Given the description of an element on the screen output the (x, y) to click on. 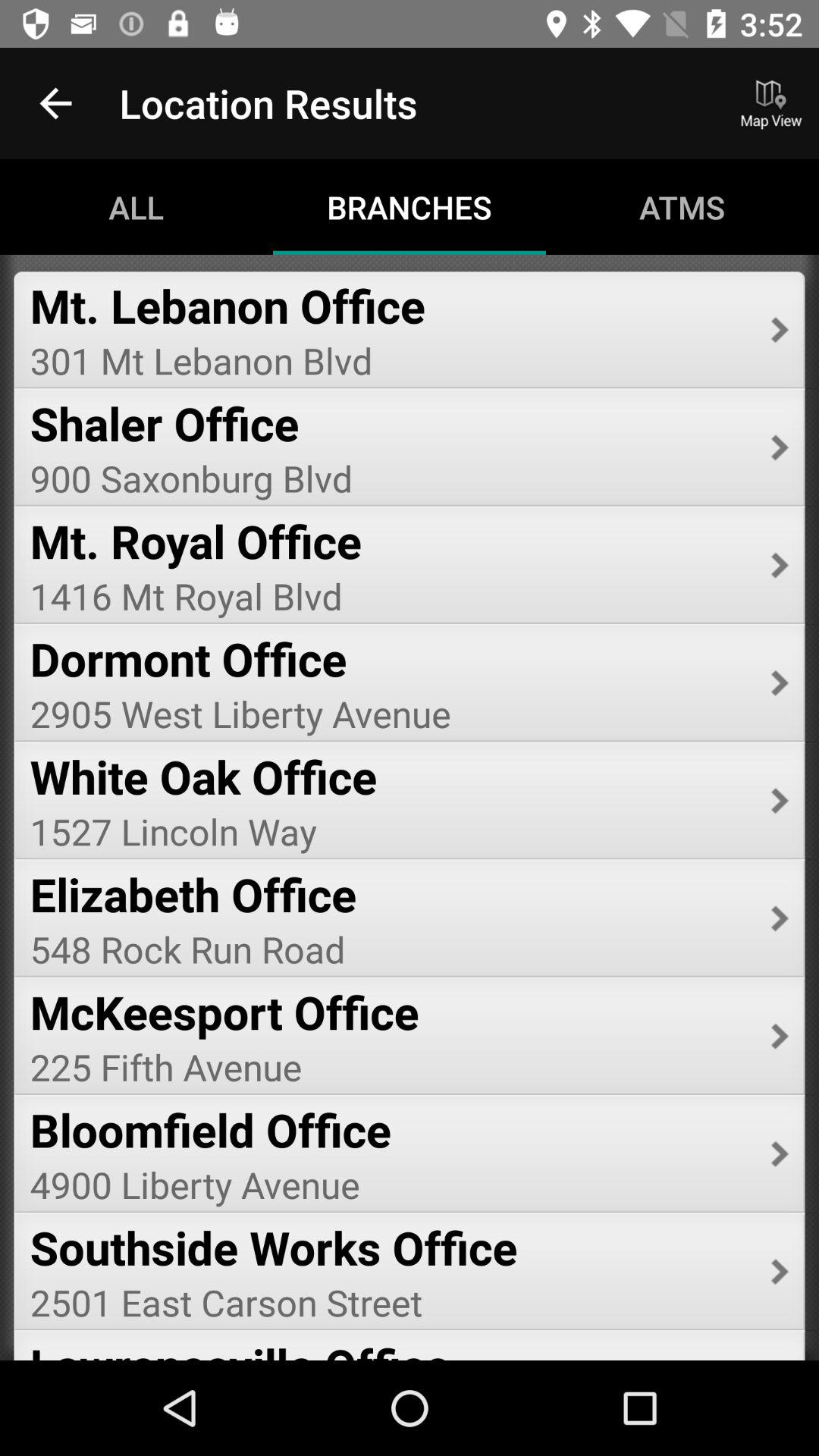
jump to the 1527 lincoln way (390, 831)
